Given the description of an element on the screen output the (x, y) to click on. 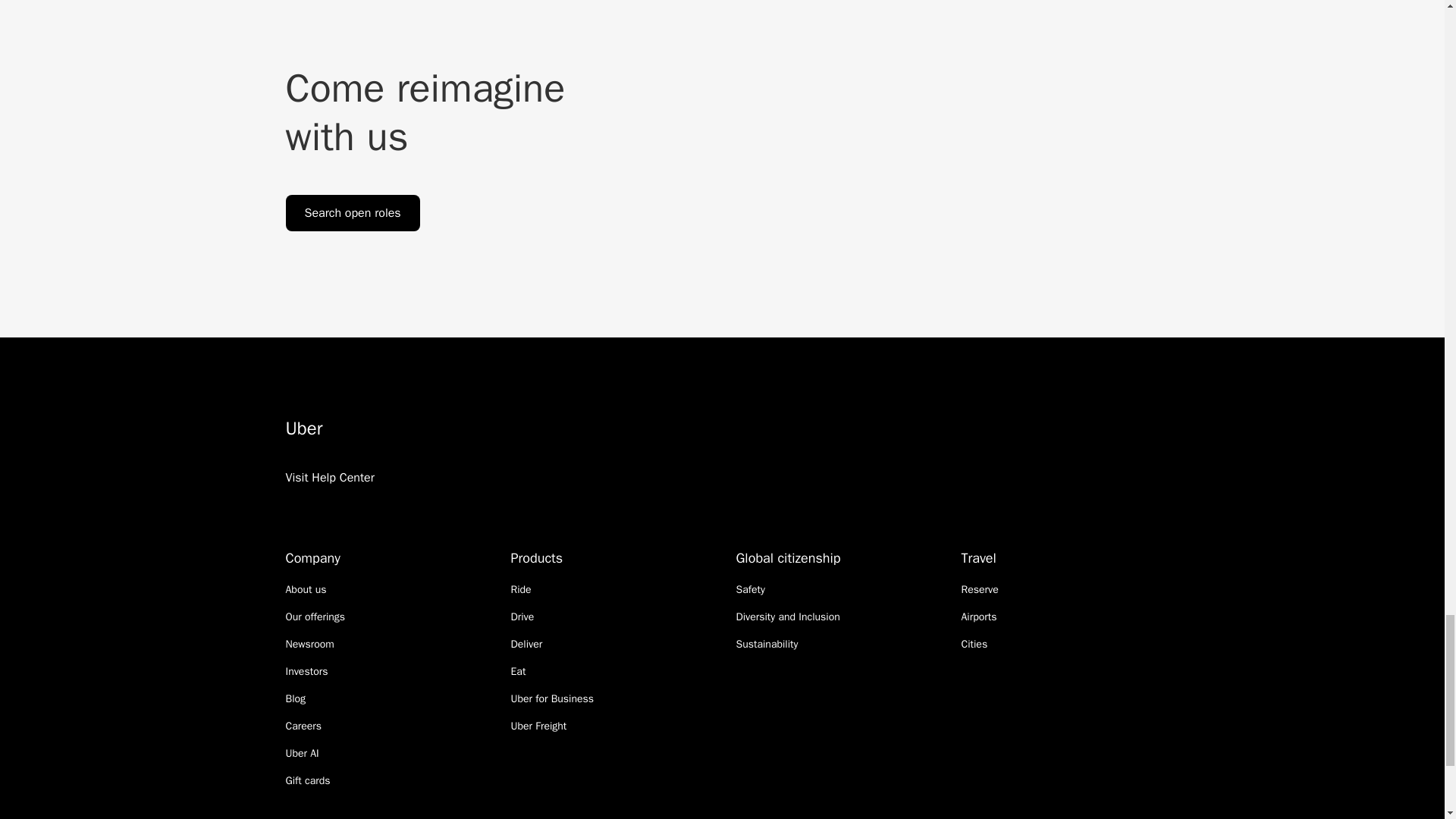
Uber Freight (539, 726)
Careers (303, 726)
Ride (521, 589)
Newsroom (309, 644)
Our offerings (315, 616)
Cities (974, 644)
Reserve (979, 589)
Eat (518, 671)
Diversity and Inclusion (787, 616)
Safety (749, 589)
Drive (522, 616)
Uber for Business (552, 698)
Airports (978, 616)
Visit Help Center (329, 496)
Gift cards (307, 780)
